Given the description of an element on the screen output the (x, y) to click on. 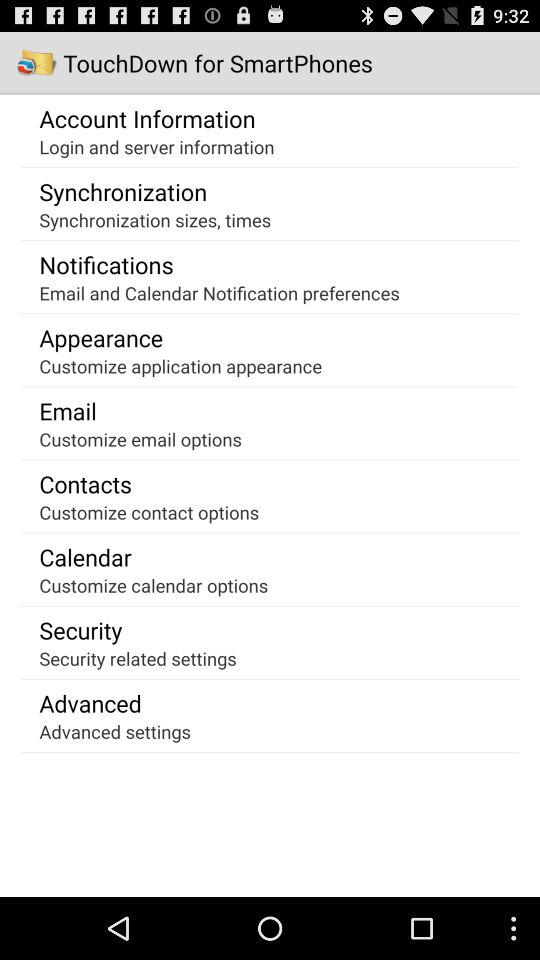
scroll until security related settings icon (137, 658)
